Given the description of an element on the screen output the (x, y) to click on. 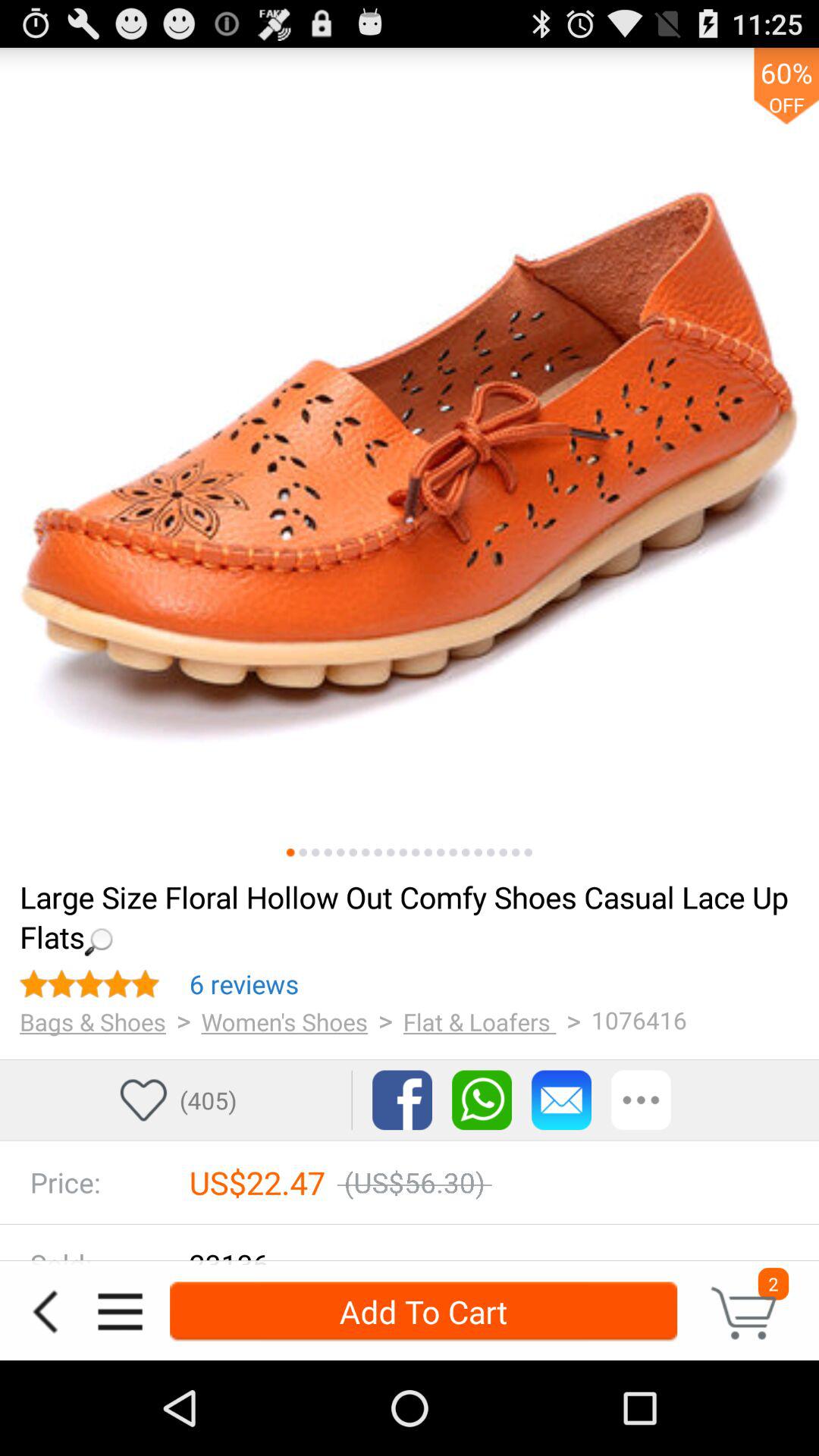
turn off the item to the right of the > item (479, 1021)
